Given the description of an element on the screen output the (x, y) to click on. 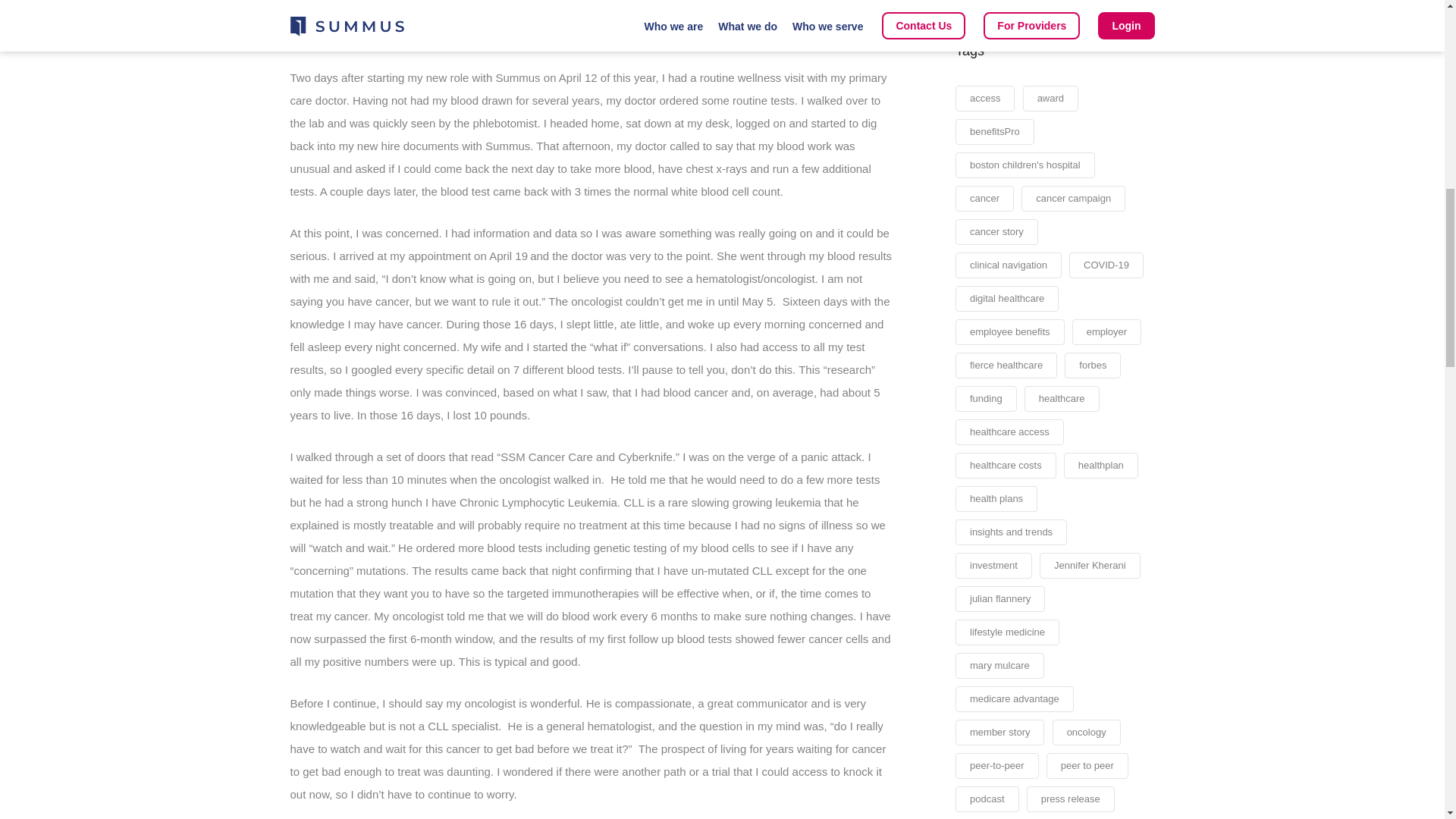
boston children's hospital (1024, 165)
benefitsPro (994, 131)
access (984, 98)
cancer (984, 198)
award (1050, 98)
